Given the description of an element on the screen output the (x, y) to click on. 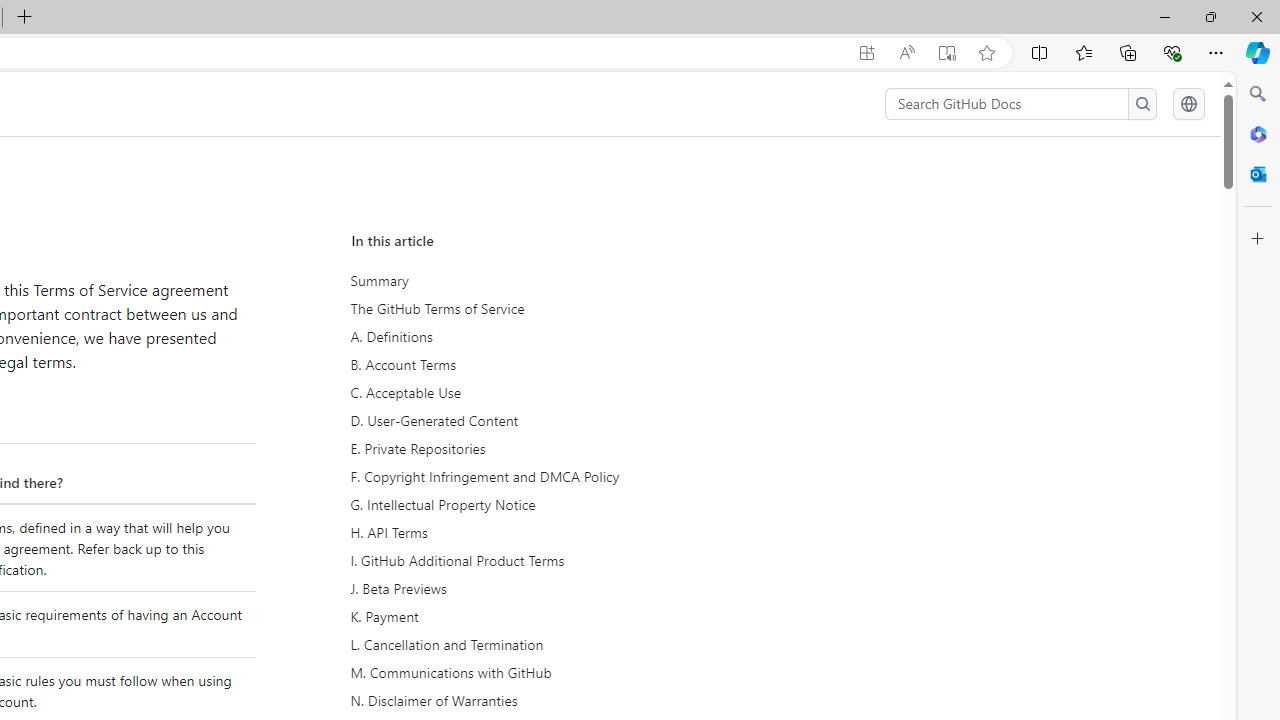
D. User-Generated Content (538, 420)
M. Communications with GitHub (538, 672)
App available. Install GitHub Docs (867, 53)
E. Private Repositories (535, 448)
J. Beta Previews (538, 589)
A. Definitions (535, 337)
